Given the description of an element on the screen output the (x, y) to click on. 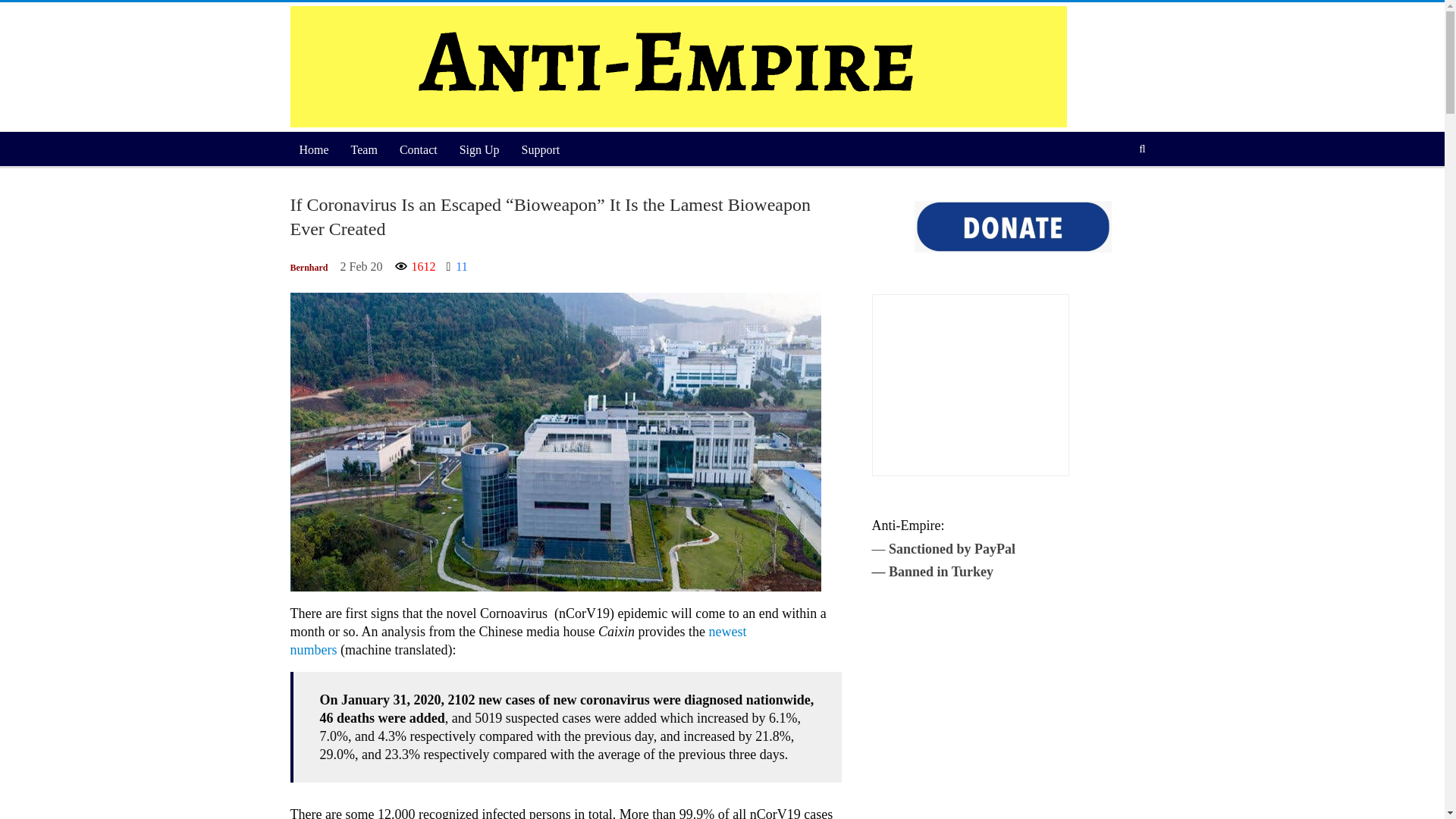
11 (456, 266)
newest numbers (517, 640)
Contact (418, 149)
Browse Author Articles (308, 267)
Home (313, 149)
Support (540, 149)
Bernhard (308, 267)
Sign Up (478, 149)
Team (364, 149)
